Given the description of an element on the screen output the (x, y) to click on. 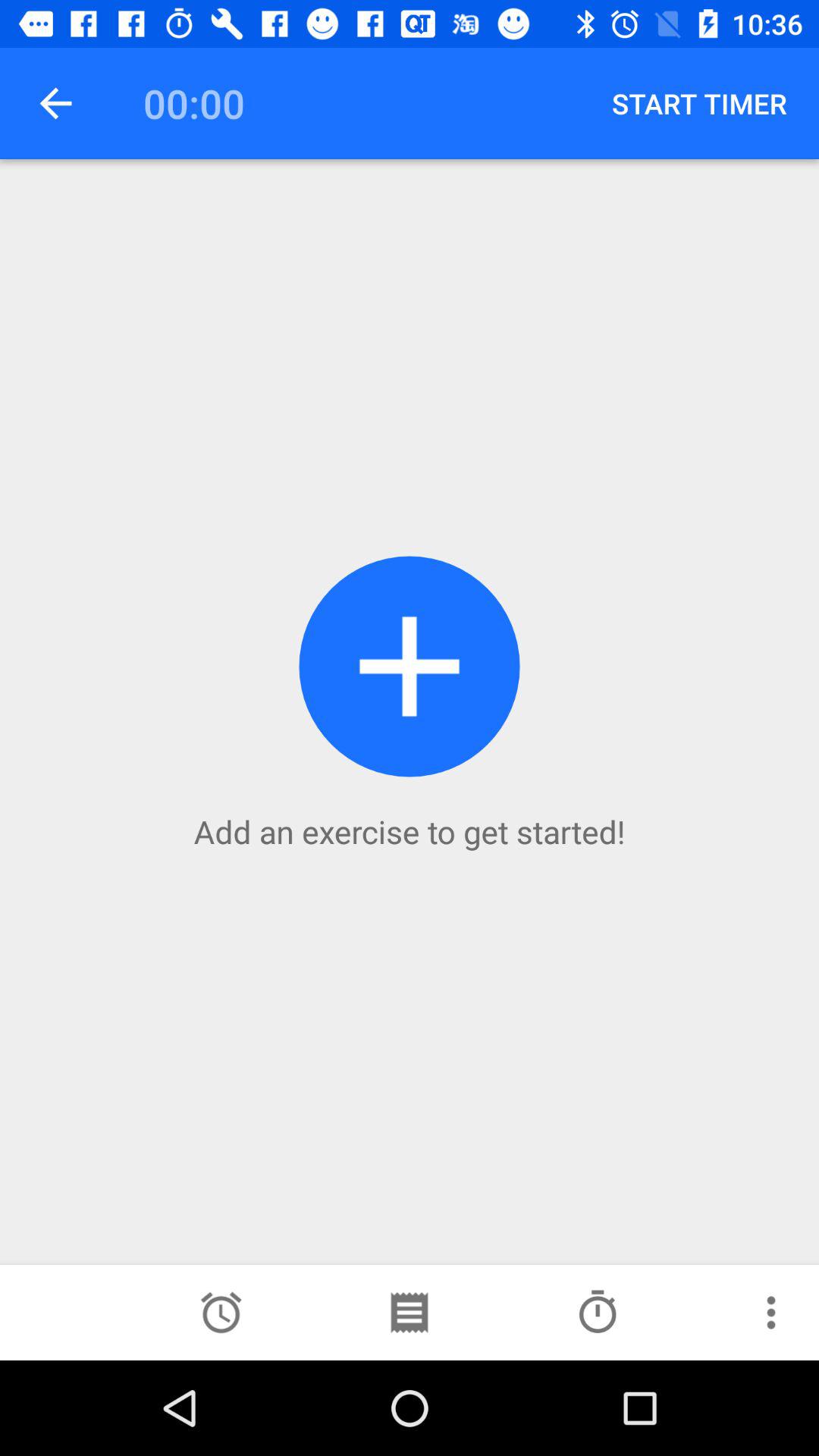
menu option (771, 1312)
